Given the description of an element on the screen output the (x, y) to click on. 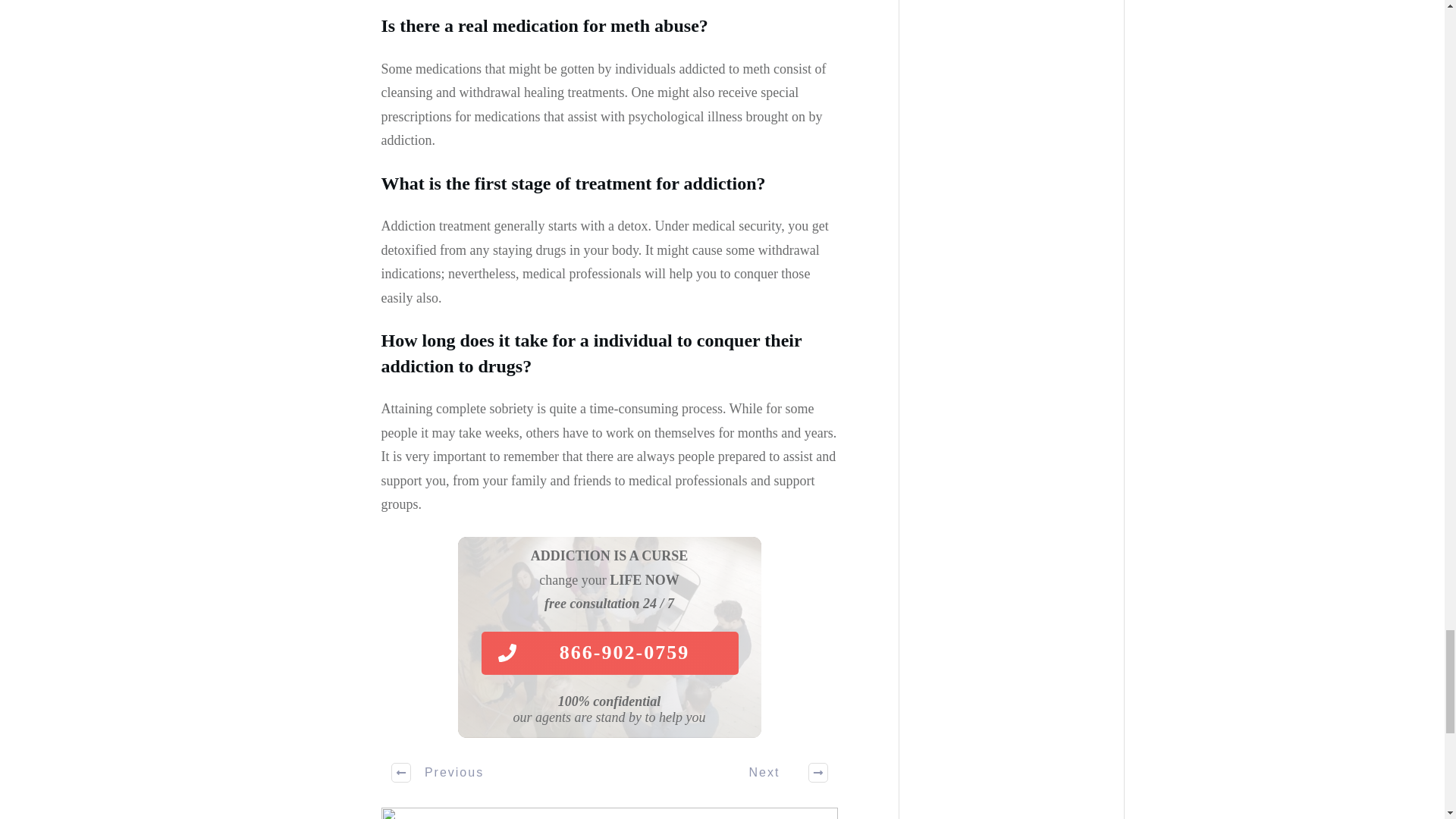
Next (780, 772)
Meth Addiction Treatment in Memphis, TN (608, 813)
866-902-0759 (609, 652)
Previous (438, 772)
